Given the description of an element on the screen output the (x, y) to click on. 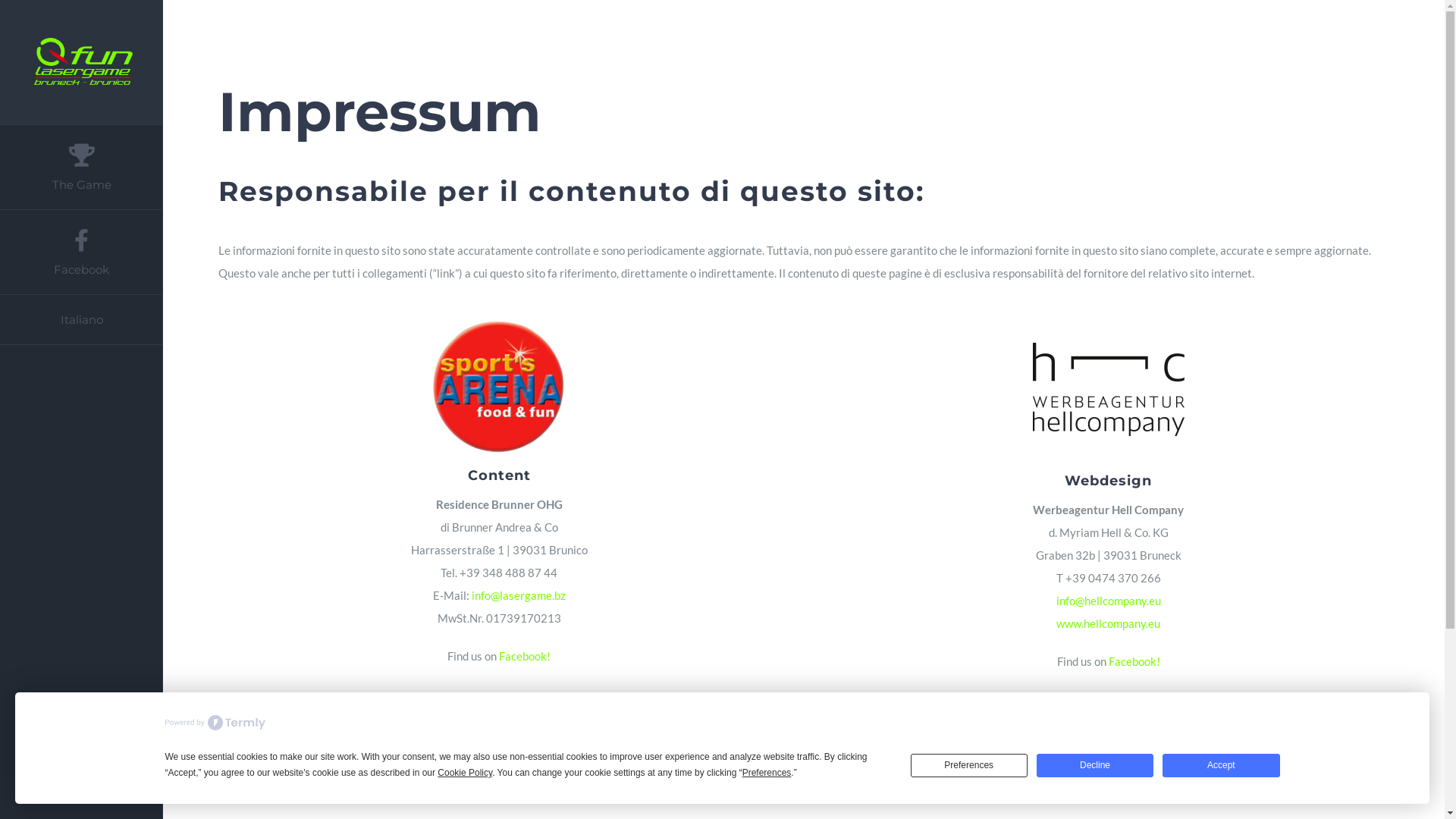
Accept Element type: text (1220, 765)
Facebook! Element type: text (1134, 661)
Preferences Element type: text (968, 765)
Decline Element type: text (1094, 765)
www.hellcompany.eu Element type: text (1108, 623)
Italiano Element type: text (81, 319)
info@lasergame.bz Element type: text (518, 595)
Facebook Element type: text (81, 252)
Facebook! Element type: text (524, 655)
info@hellcompany.eu Element type: text (1108, 600)
The Game Element type: text (81, 167)
